Given the description of an element on the screen output the (x, y) to click on. 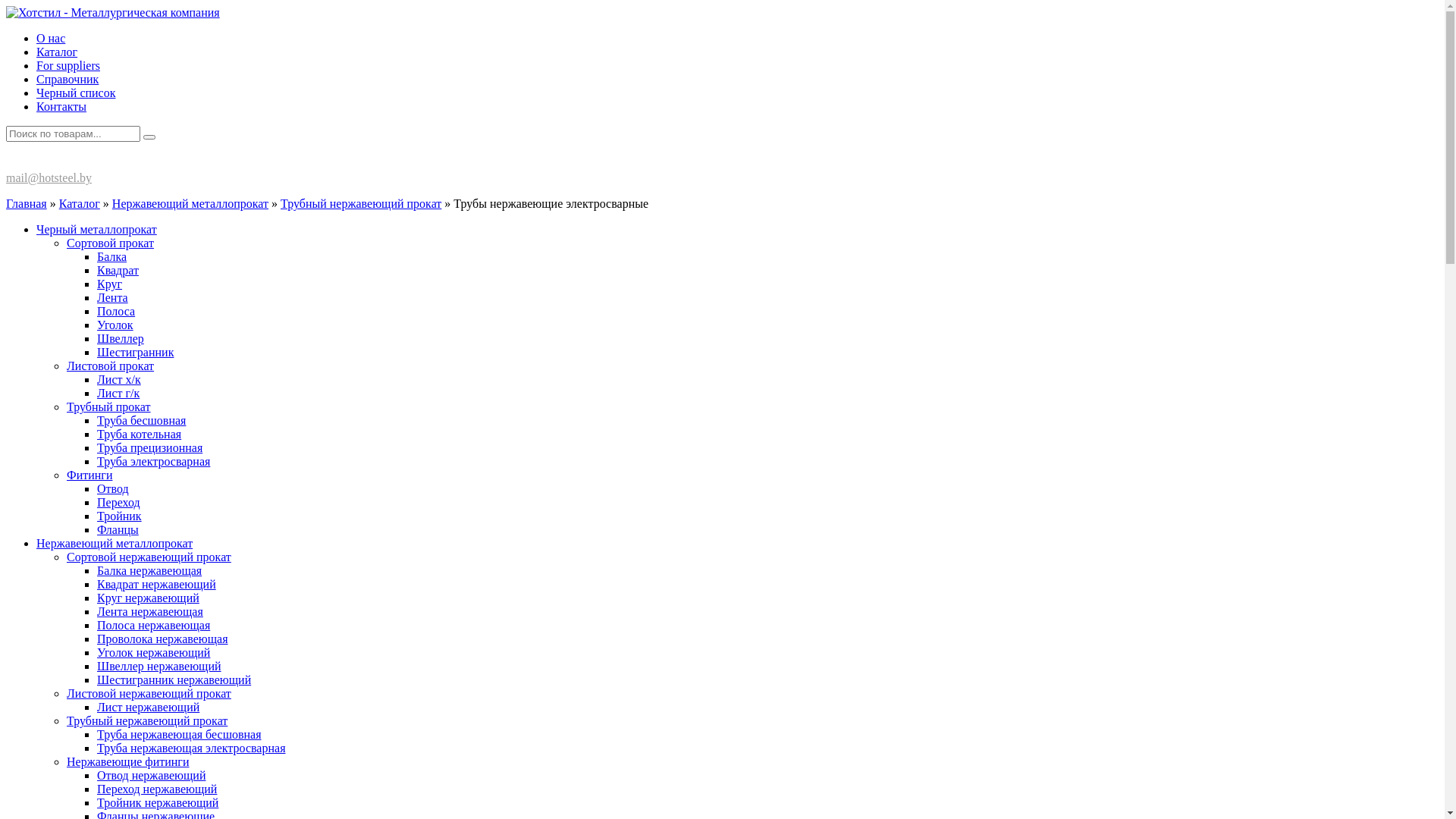
+375 (17) 270-80-13 Element type: text (69, 161)
For suppliers Element type: text (68, 65)
mail@hotsteel.by Element type: text (48, 177)
